Given the description of an element on the screen output the (x, y) to click on. 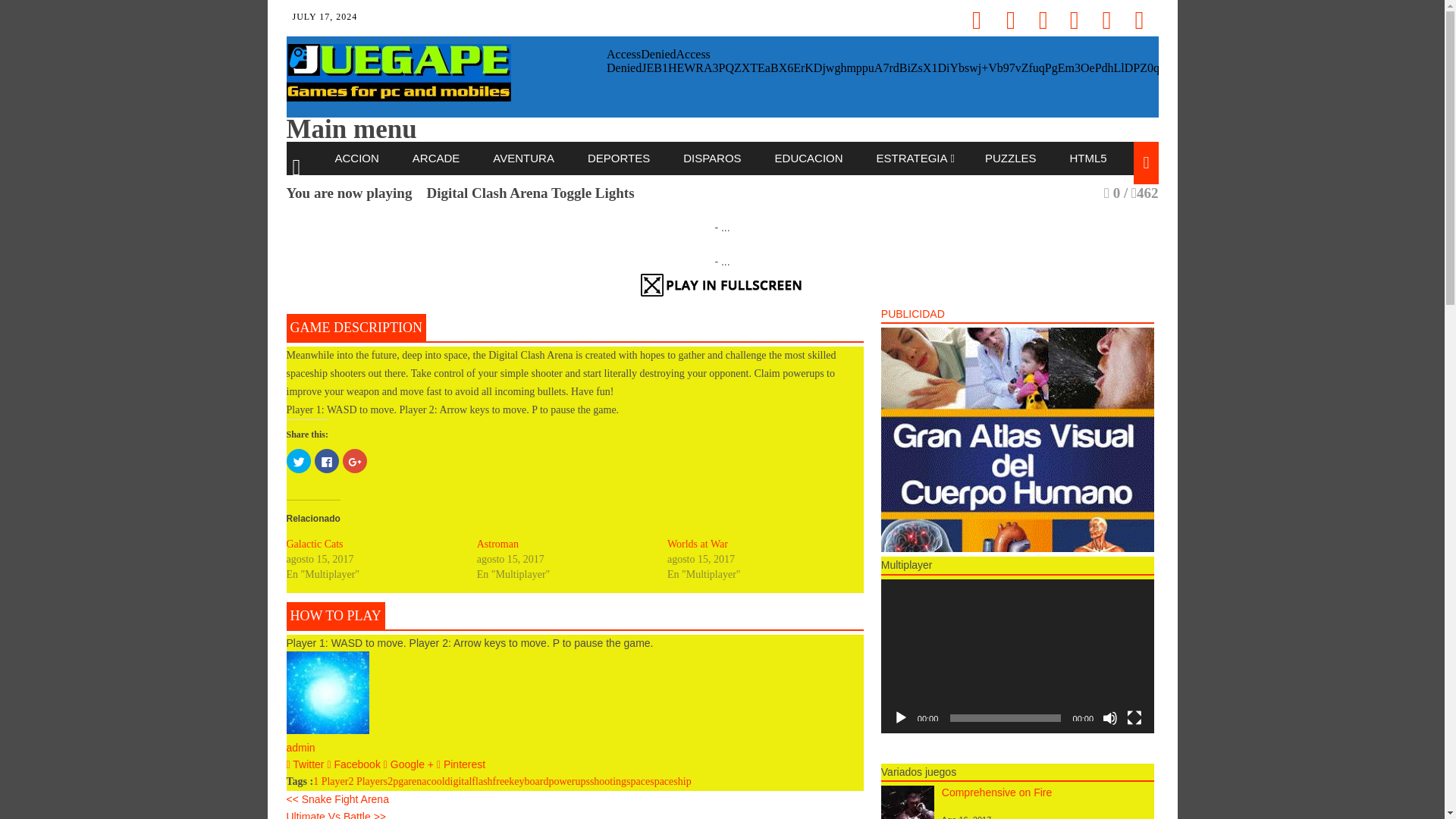
1 Player (330, 781)
Pinterest (1071, 12)
ACCION (358, 158)
admin (300, 747)
Astroman (497, 543)
Entradas de admin (300, 747)
Facebook (353, 764)
DISPAROS (713, 158)
Facebook (973, 12)
Twitter (305, 764)
arena (414, 781)
2 Players (367, 781)
Juegape (398, 97)
Tweet this! (305, 764)
Youtube (1103, 12)
